Given the description of an element on the screen output the (x, y) to click on. 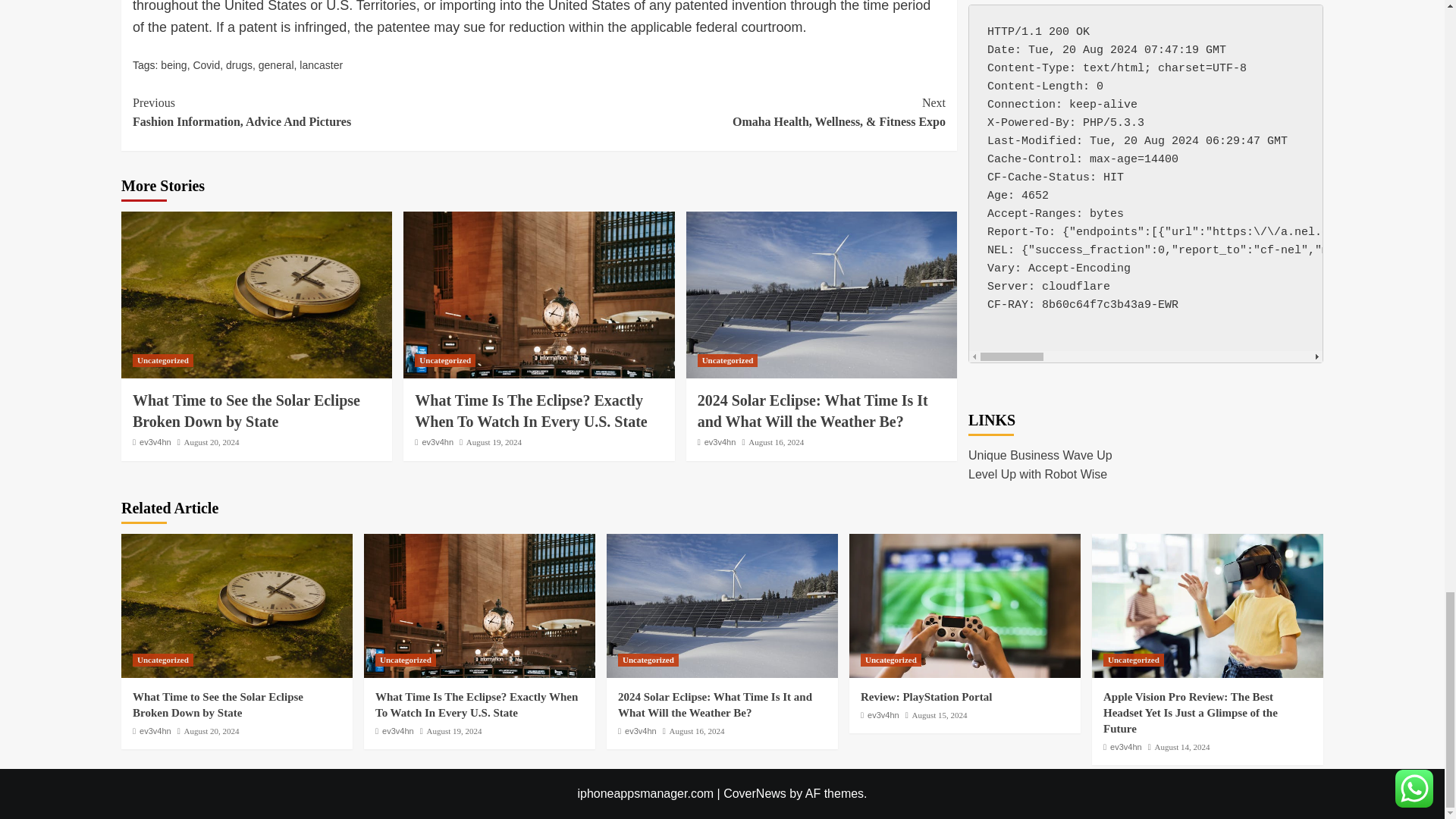
Covid (205, 64)
Uncategorized (335, 112)
What Time to See the Solar Eclipse Broken Down by State (162, 359)
What Time to See the Solar Eclipse Broken Down by State (255, 294)
general (236, 605)
lancaster (276, 64)
What Time to See the Solar Eclipse Broken Down by State (320, 64)
